Given the description of an element on the screen output the (x, y) to click on. 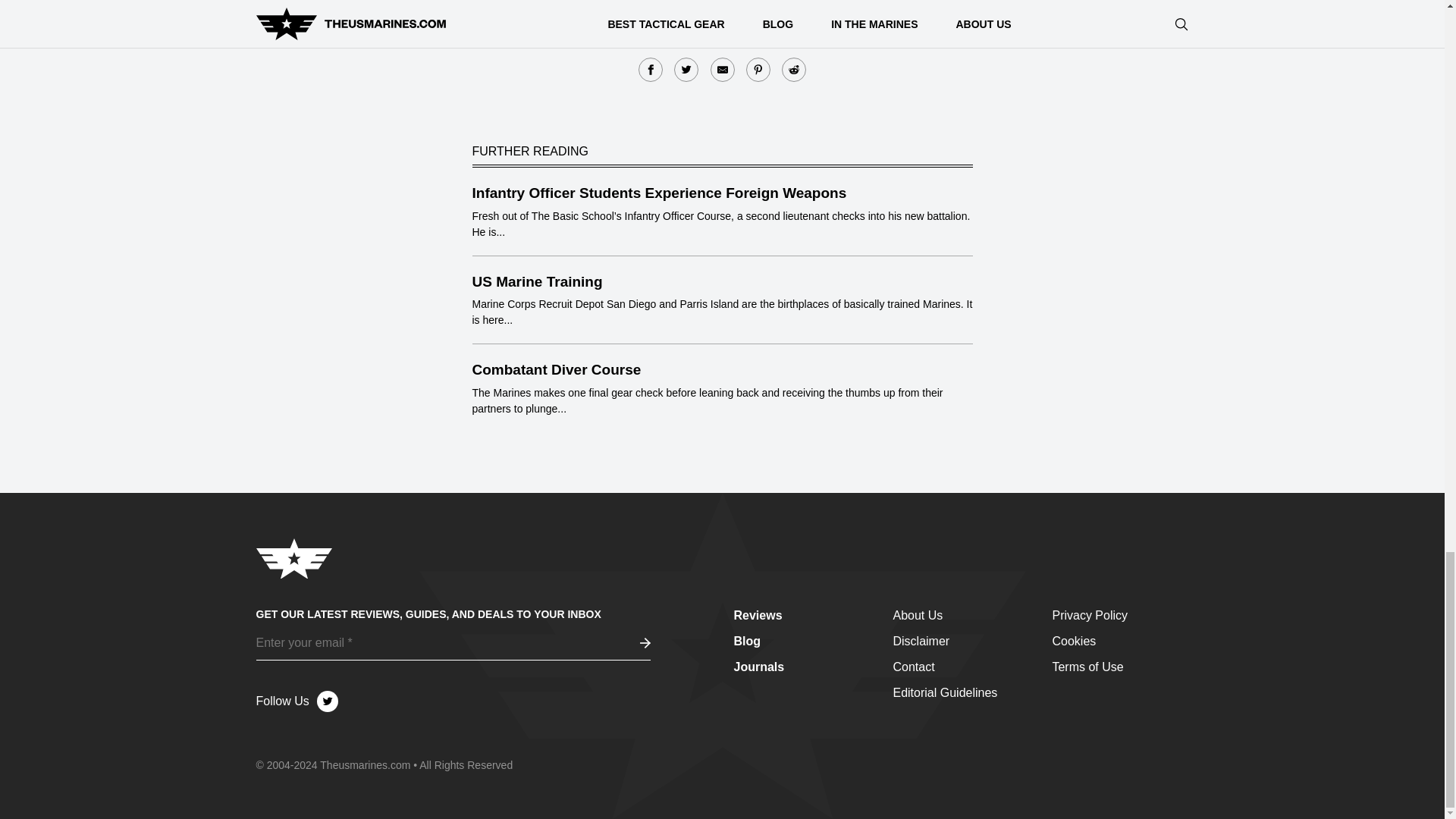
Share via Email (721, 69)
Share on Reddit (793, 69)
Share on Facebook (650, 69)
Share on Twitter (686, 69)
Reviews (758, 615)
Share on Pinterest (757, 69)
Enter your email (453, 643)
